Given the description of an element on the screen output the (x, y) to click on. 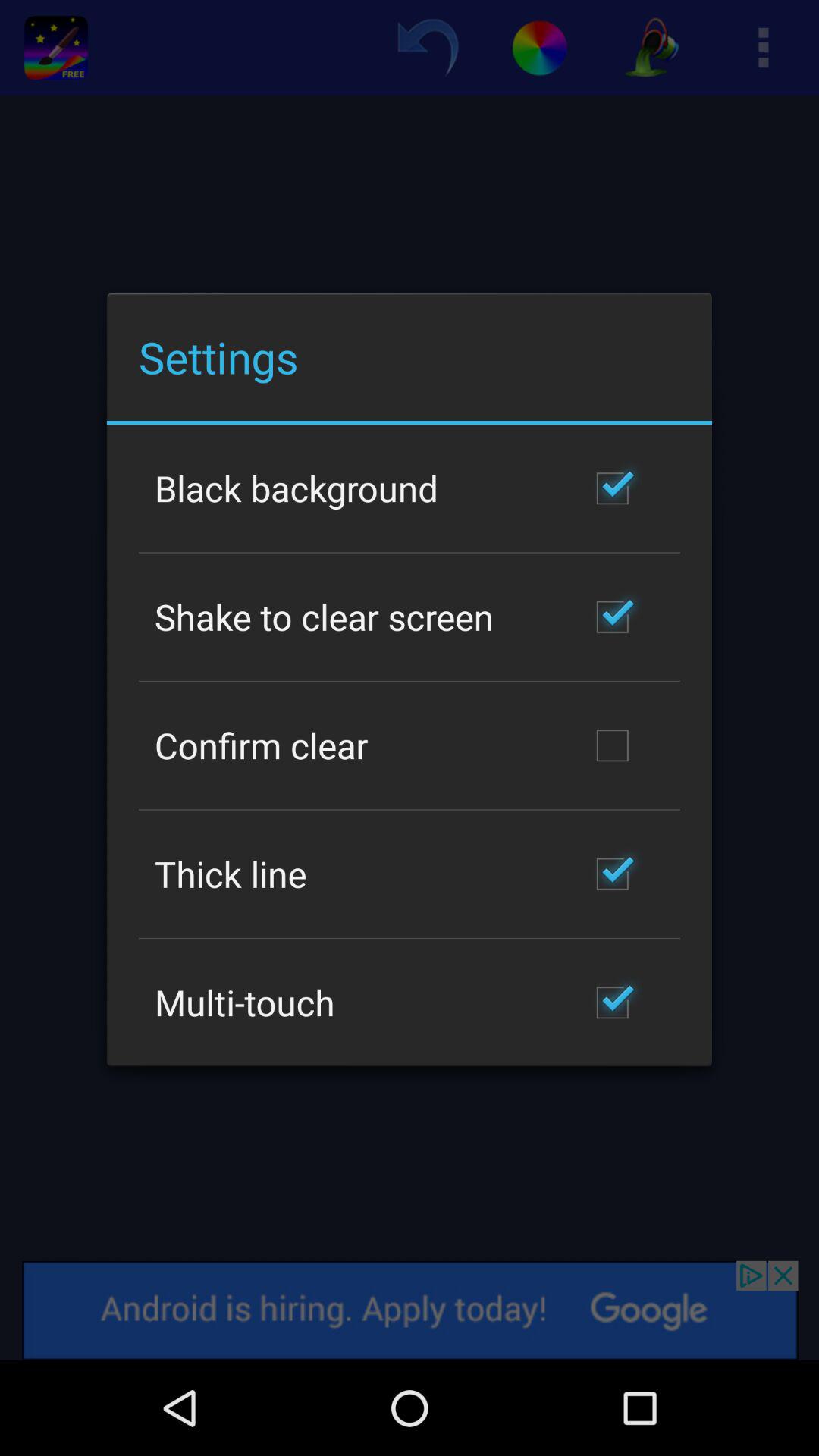
open icon above the shake to clear icon (296, 488)
